Given the description of an element on the screen output the (x, y) to click on. 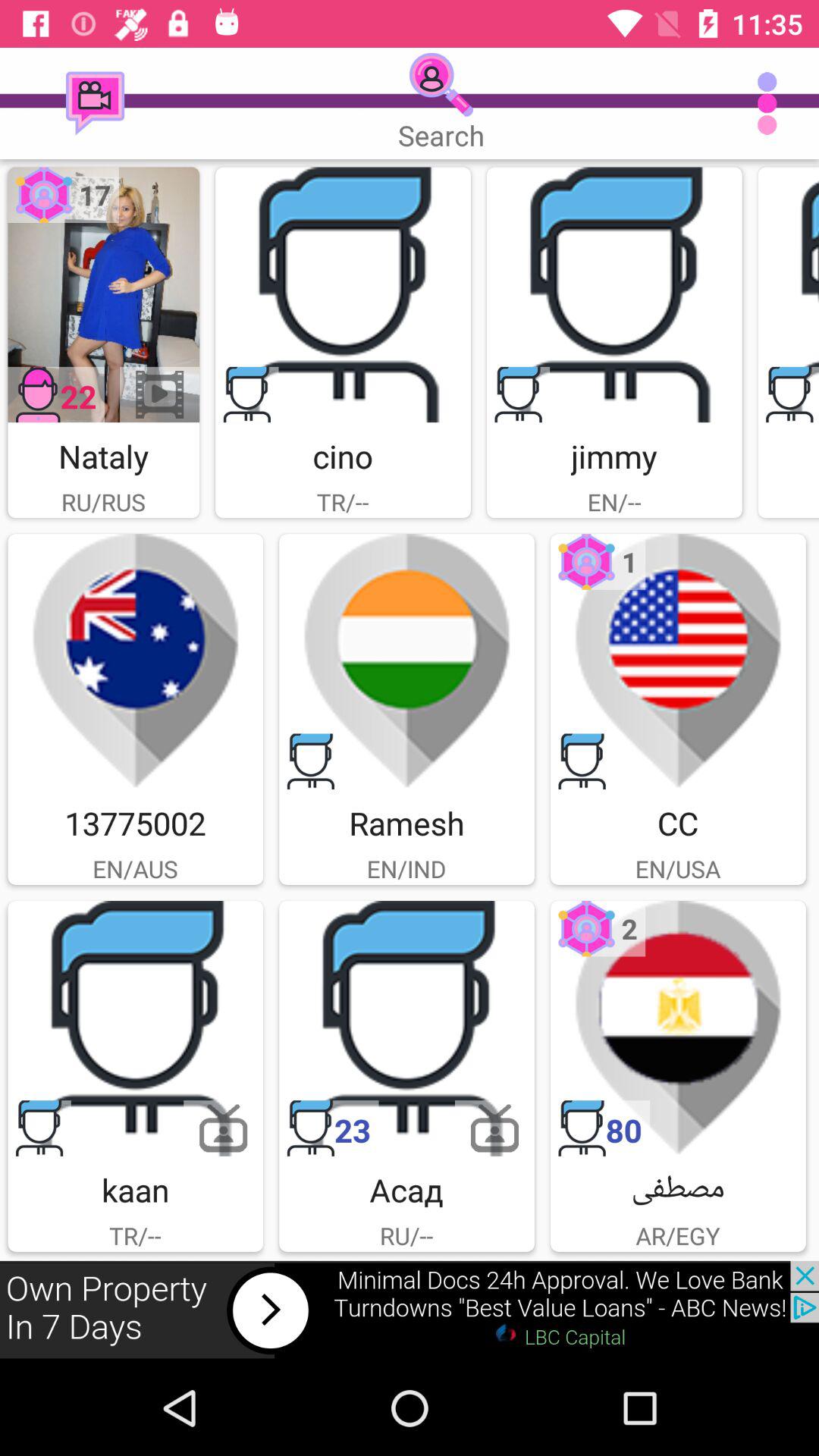
cino image (342, 294)
